Given the description of an element on the screen output the (x, y) to click on. 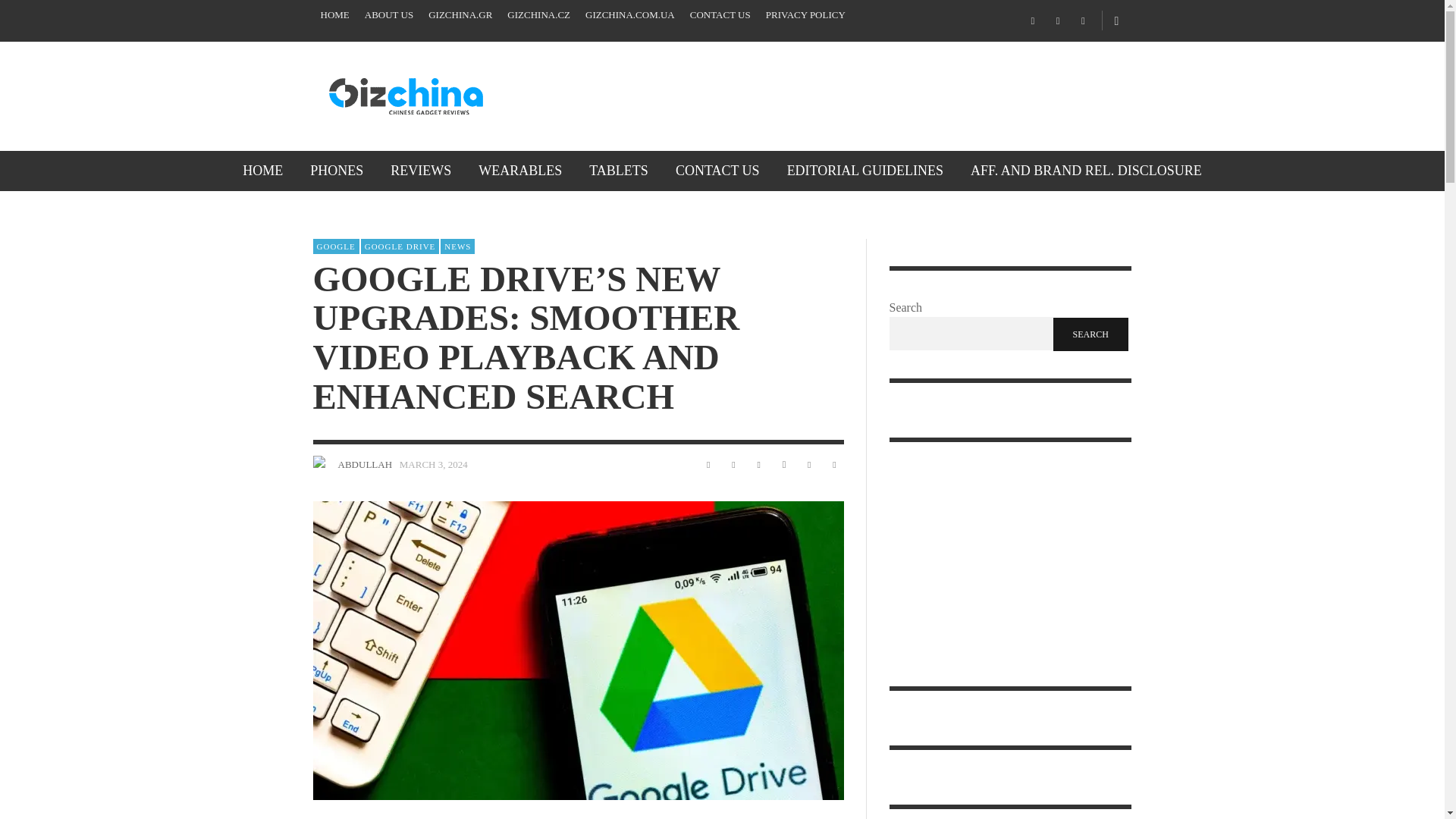
GIZCHINA.COM.UA (630, 15)
ABOUT US (388, 15)
HOME (334, 15)
GIZCHINA.GR (459, 15)
HOME (262, 170)
GIZCHINA.CZ (538, 15)
REVIEWS (420, 170)
PHONES (337, 170)
PRIVACY POLICY (805, 15)
CONTACT US (720, 15)
